Given the description of an element on the screen output the (x, y) to click on. 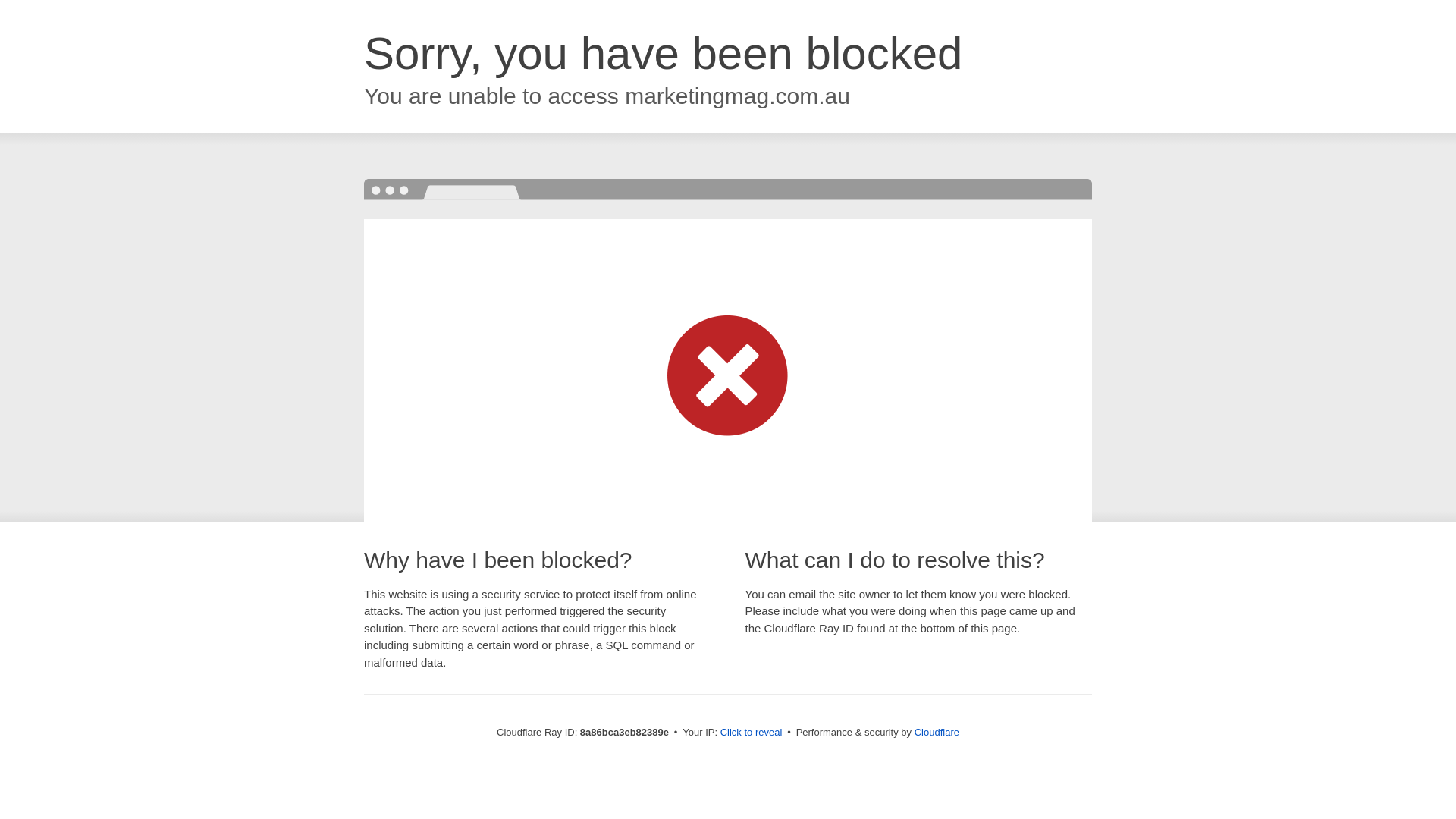
Click to reveal (751, 732)
Cloudflare (936, 731)
